Given the description of an element on the screen output the (x, y) to click on. 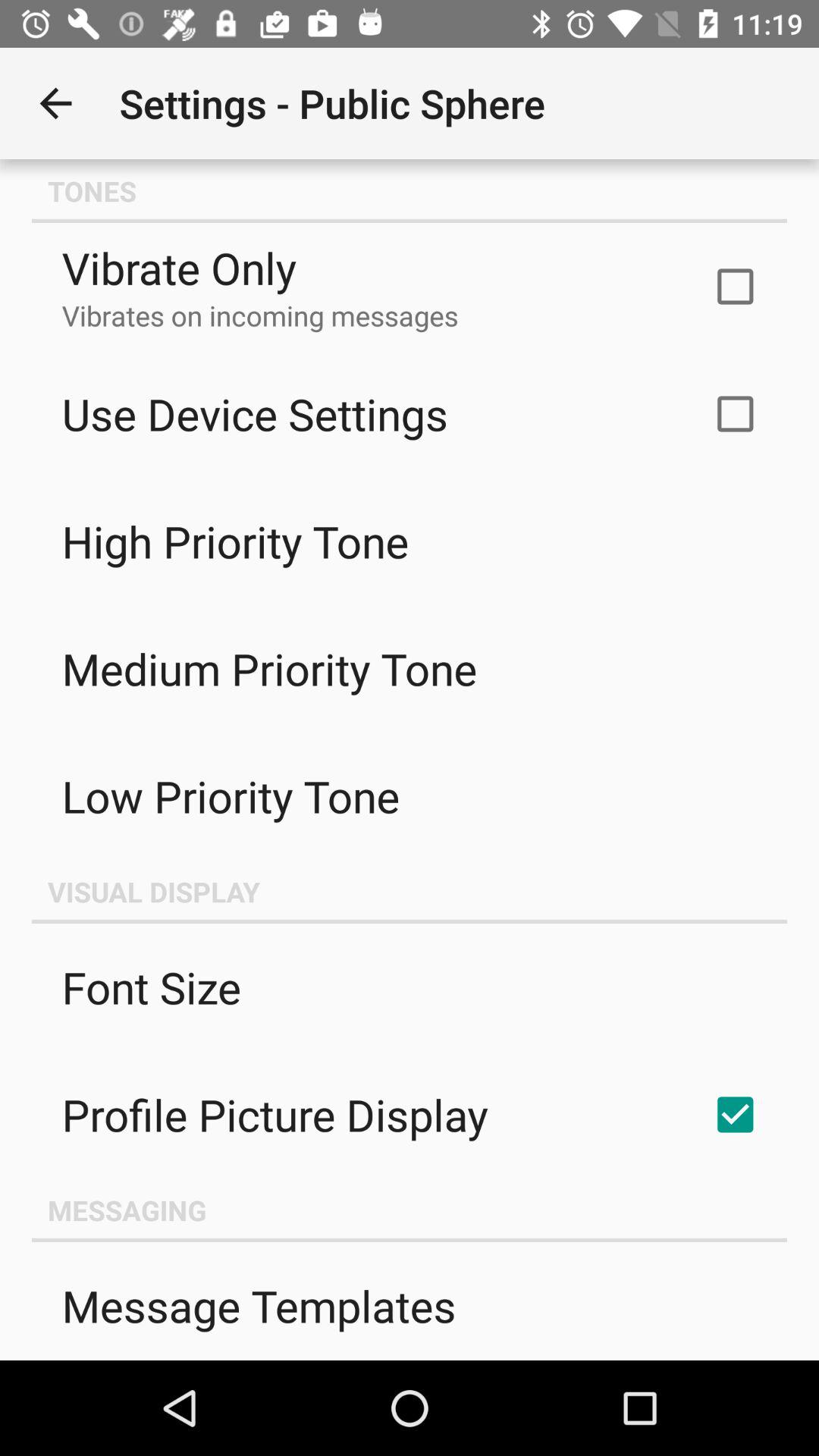
press the icon above the tones (55, 103)
